Given the description of an element on the screen output the (x, y) to click on. 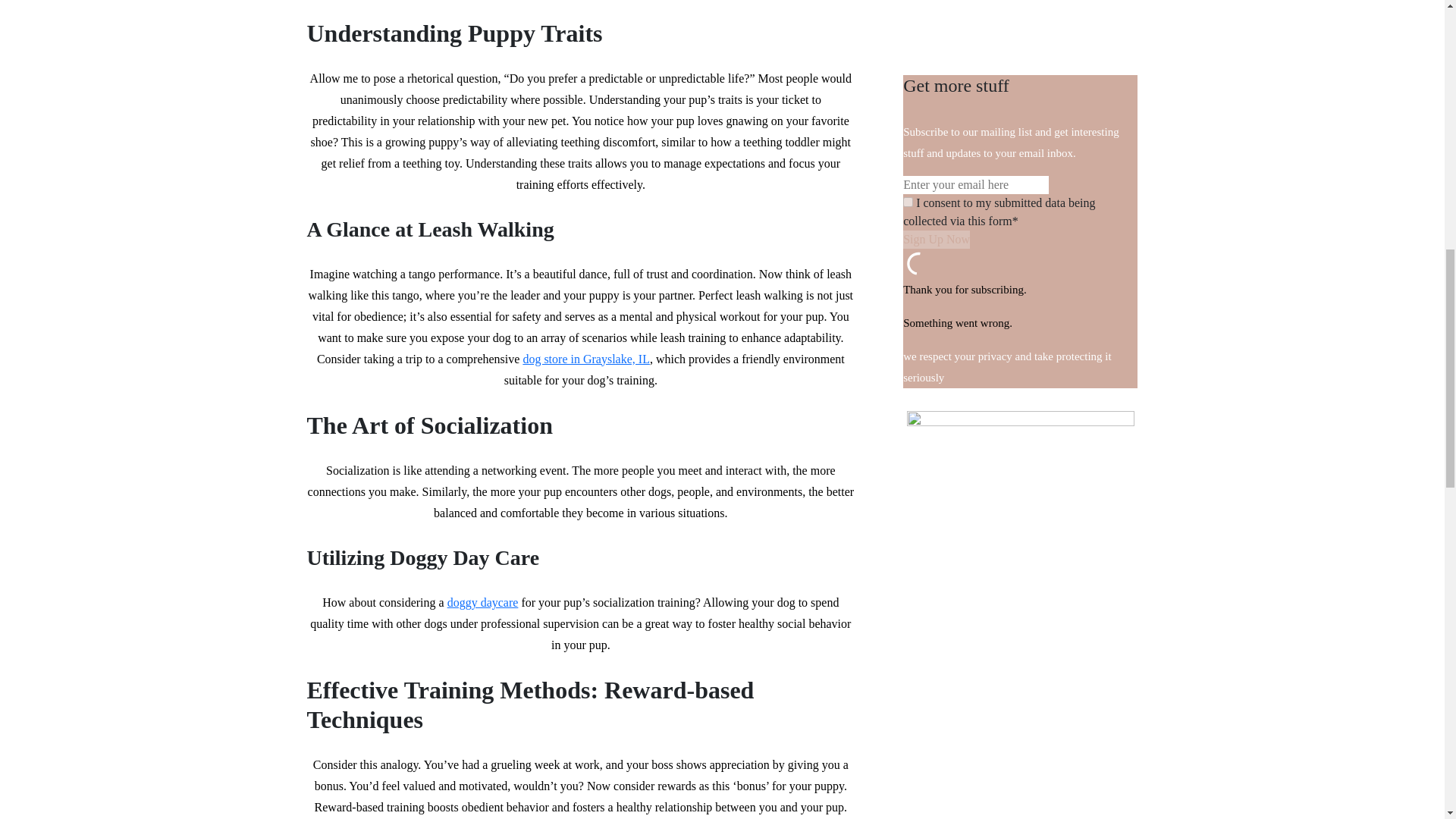
doggy daycare (482, 602)
dog store in Grayslake, IL (585, 358)
Sign Up Now (935, 239)
on (907, 202)
